Given the description of an element on the screen output the (x, y) to click on. 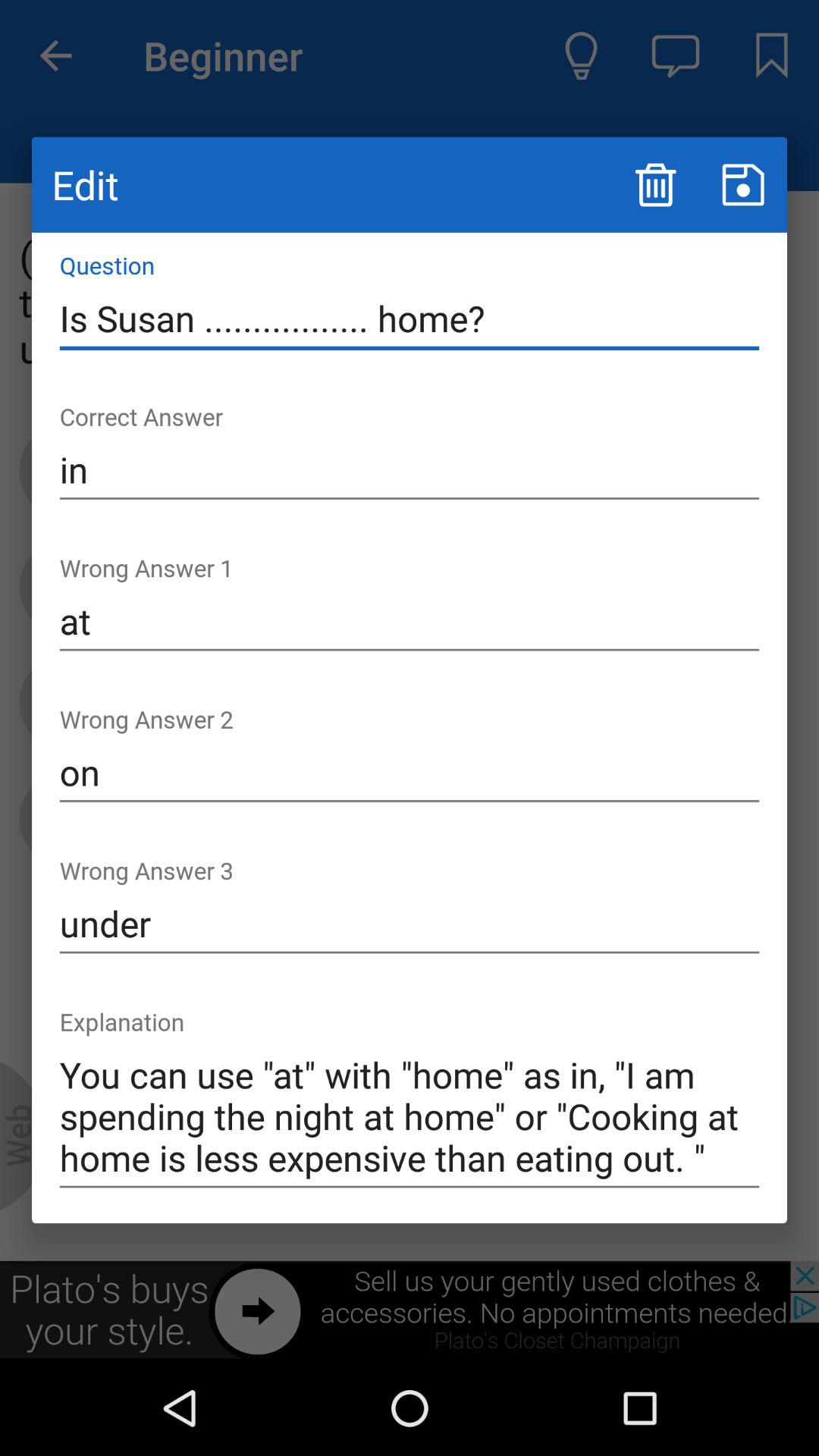
press the icon above is susan ................. home?  icon (655, 184)
